Given the description of an element on the screen output the (x, y) to click on. 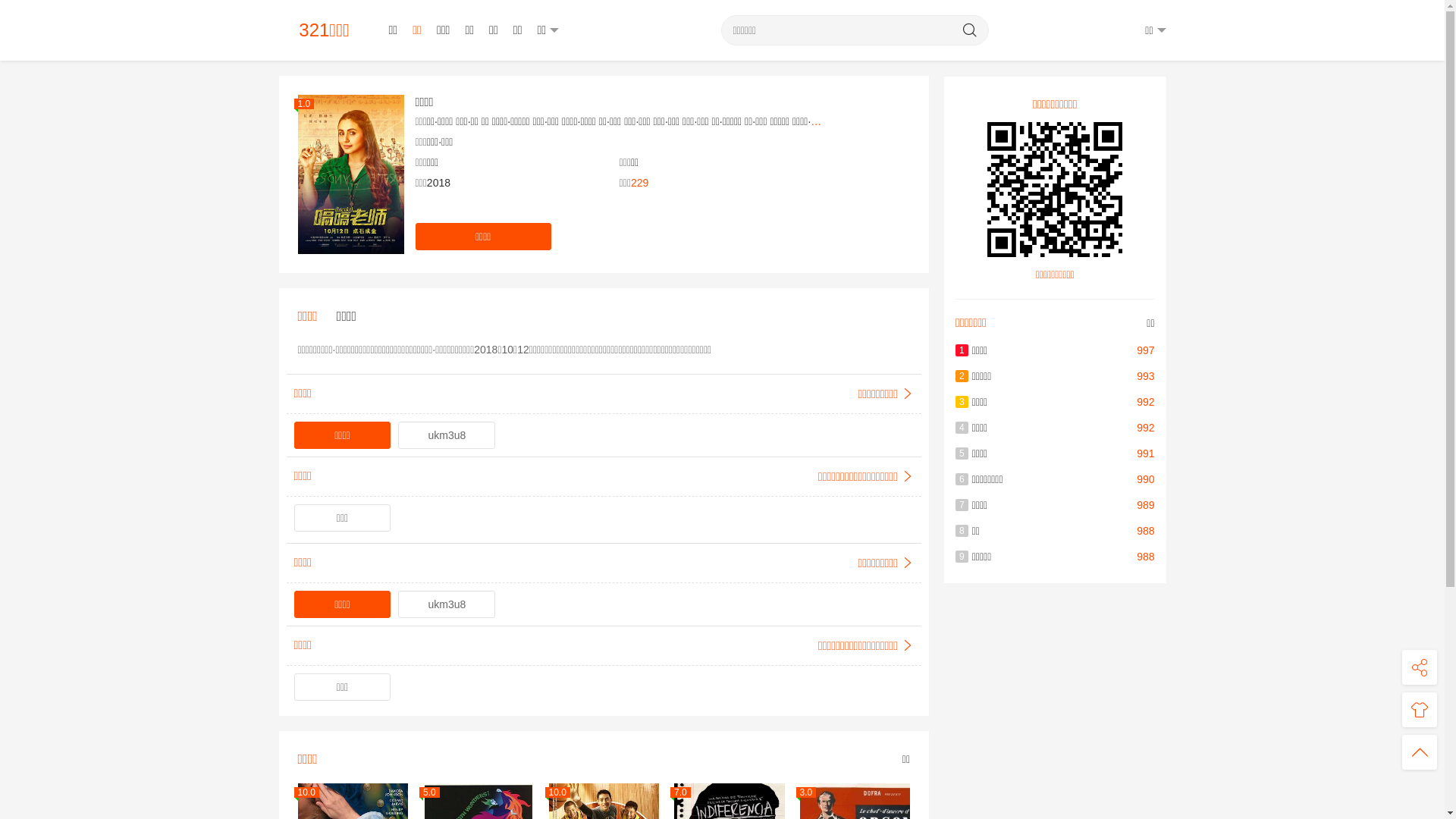
2018 Element type: text (438, 182)
ukm3u8 Element type: text (446, 604)
ukm3u8 Element type: text (446, 434)
1.0 Element type: text (350, 174)
